Given the description of an element on the screen output the (x, y) to click on. 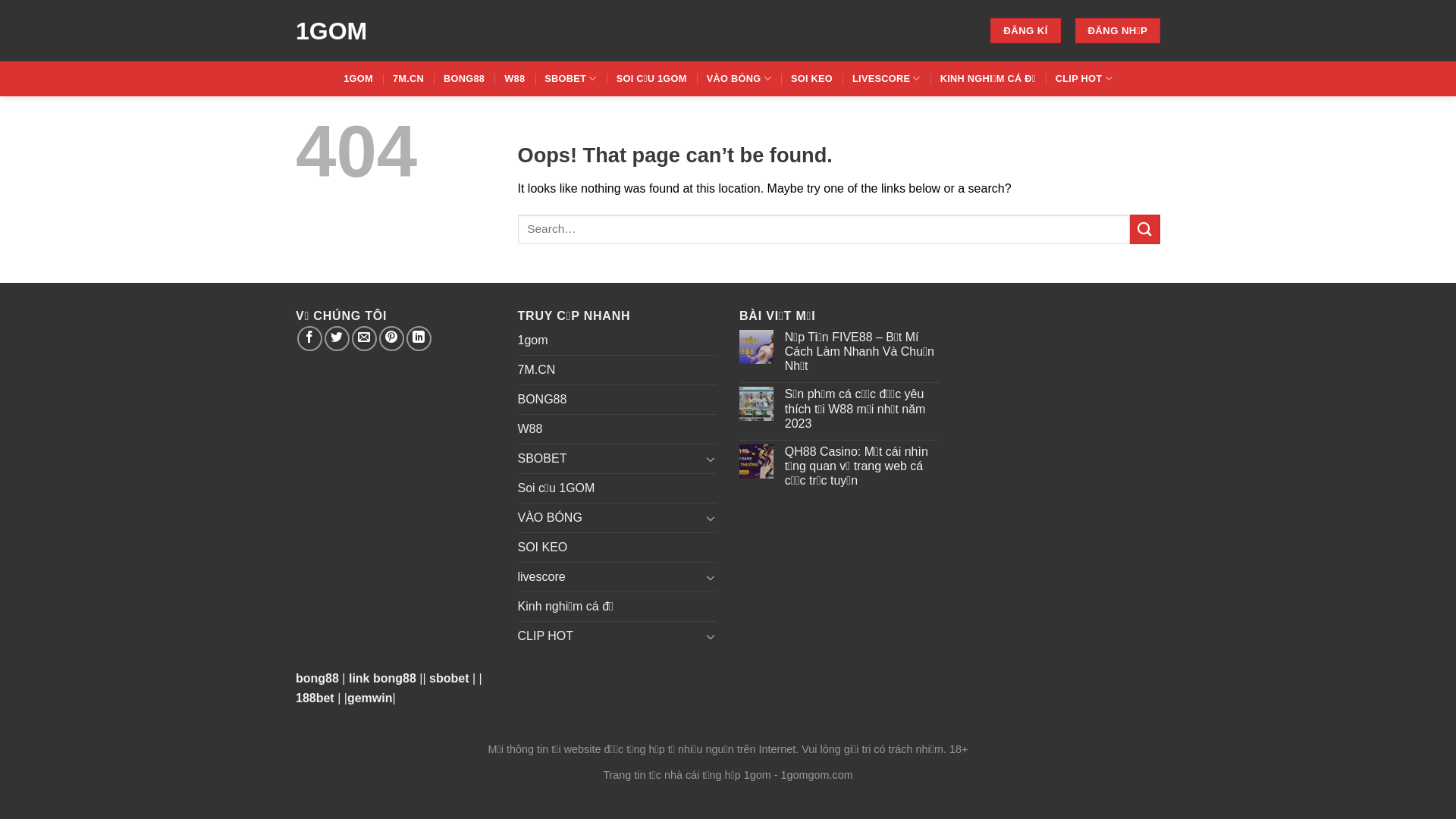
BONG88 Element type: text (463, 78)
gemwin Element type: text (369, 697)
Skip to content Element type: text (0, 0)
Email to a Friend Element type: hover (363, 338)
7M.CN Element type: text (536, 369)
SBOBET Element type: text (570, 78)
BONG88 Element type: text (541, 399)
bong88 Element type: text (318, 677)
sbobet Element type: text (450, 677)
Share on Facebook Element type: hover (309, 338)
SOI KEO Element type: text (811, 78)
7M.CN Element type: text (407, 78)
Share on LinkedIn Element type: hover (418, 338)
W88 Element type: text (529, 428)
CLIP HOT Element type: text (608, 635)
link bong88 Element type: text (383, 677)
SBOBET Element type: text (608, 458)
W88 Element type: text (514, 78)
Share on Twitter Element type: hover (336, 338)
livescore Element type: text (608, 576)
1GOM Element type: text (358, 78)
Pin on Pinterest Element type: hover (391, 338)
SOI KEO Element type: text (542, 547)
LIVESCORE Element type: text (886, 78)
CLIP HOT Element type: text (1083, 78)
1GOM Element type: text (390, 30)
188bet Element type: text (316, 697)
1gom Element type: text (532, 340)
